Given the description of an element on the screen output the (x, y) to click on. 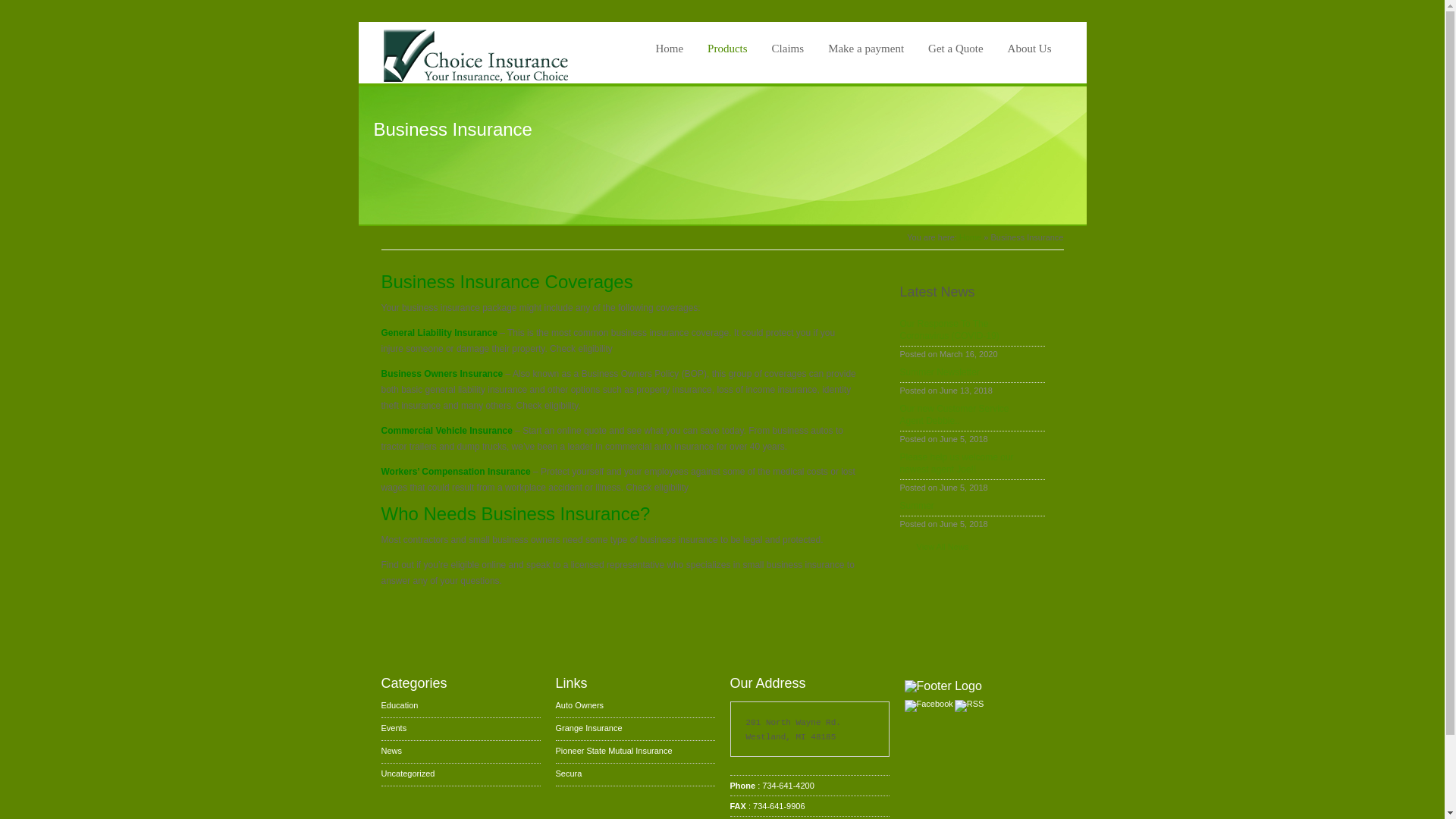
Please help us welcome our newest agent Joe!! (971, 463)
Summer (971, 505)
Make a payment (866, 48)
Claims (788, 48)
Get a Quote (955, 48)
View All News (933, 546)
Home (970, 236)
Our new Customer Service Agent Debbie.. (971, 414)
About Us (1029, 48)
Products (727, 48)
Education (398, 705)
Summer Newsletter (971, 372)
Home (668, 48)
